Given the description of an element on the screen output the (x, y) to click on. 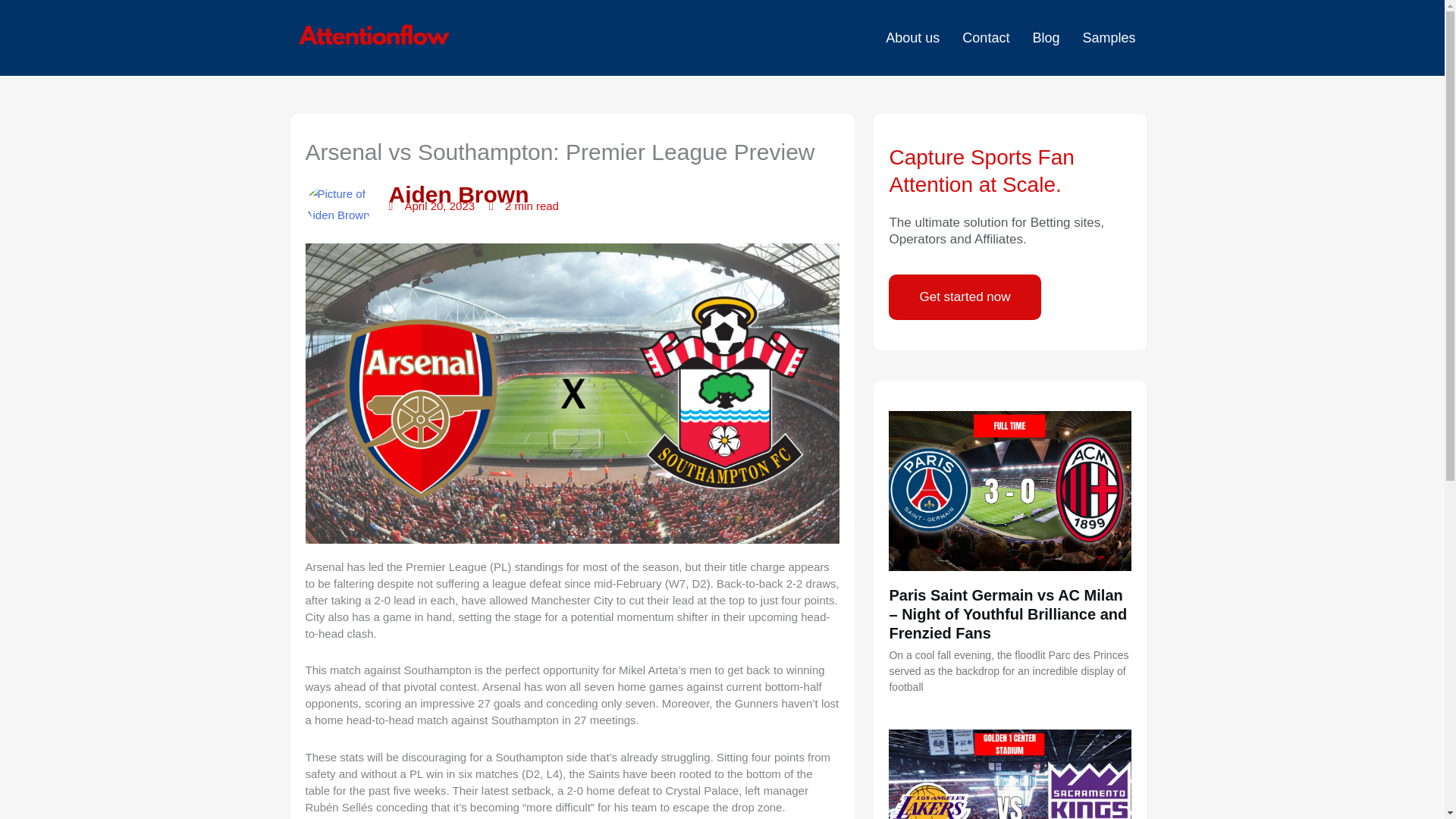
Get started now (964, 297)
Blog (1045, 37)
About us (912, 37)
April 20, 2023 (431, 206)
Aiden Brown (416, 204)
Samples (1108, 37)
Contact (985, 37)
